Given the description of an element on the screen output the (x, y) to click on. 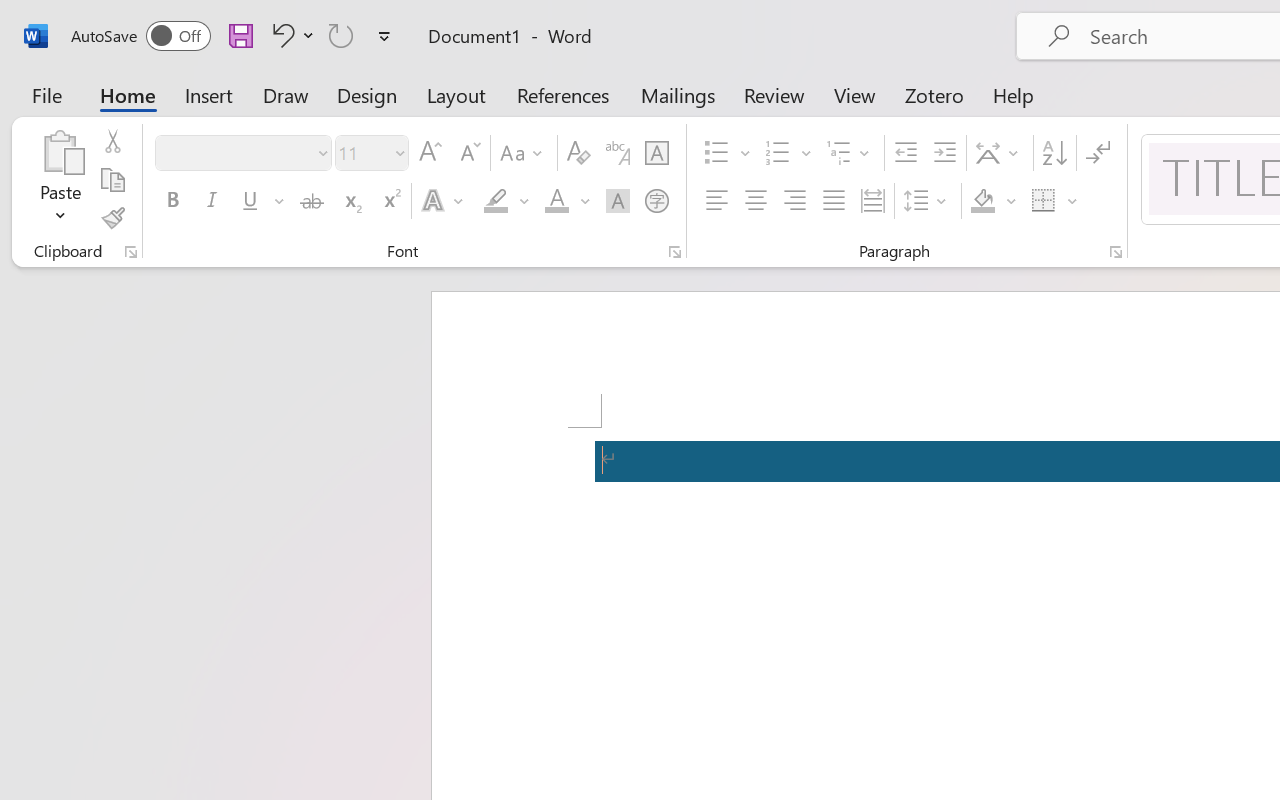
Undo Apply Quick Style Set (280, 35)
